Given the description of an element on the screen output the (x, y) to click on. 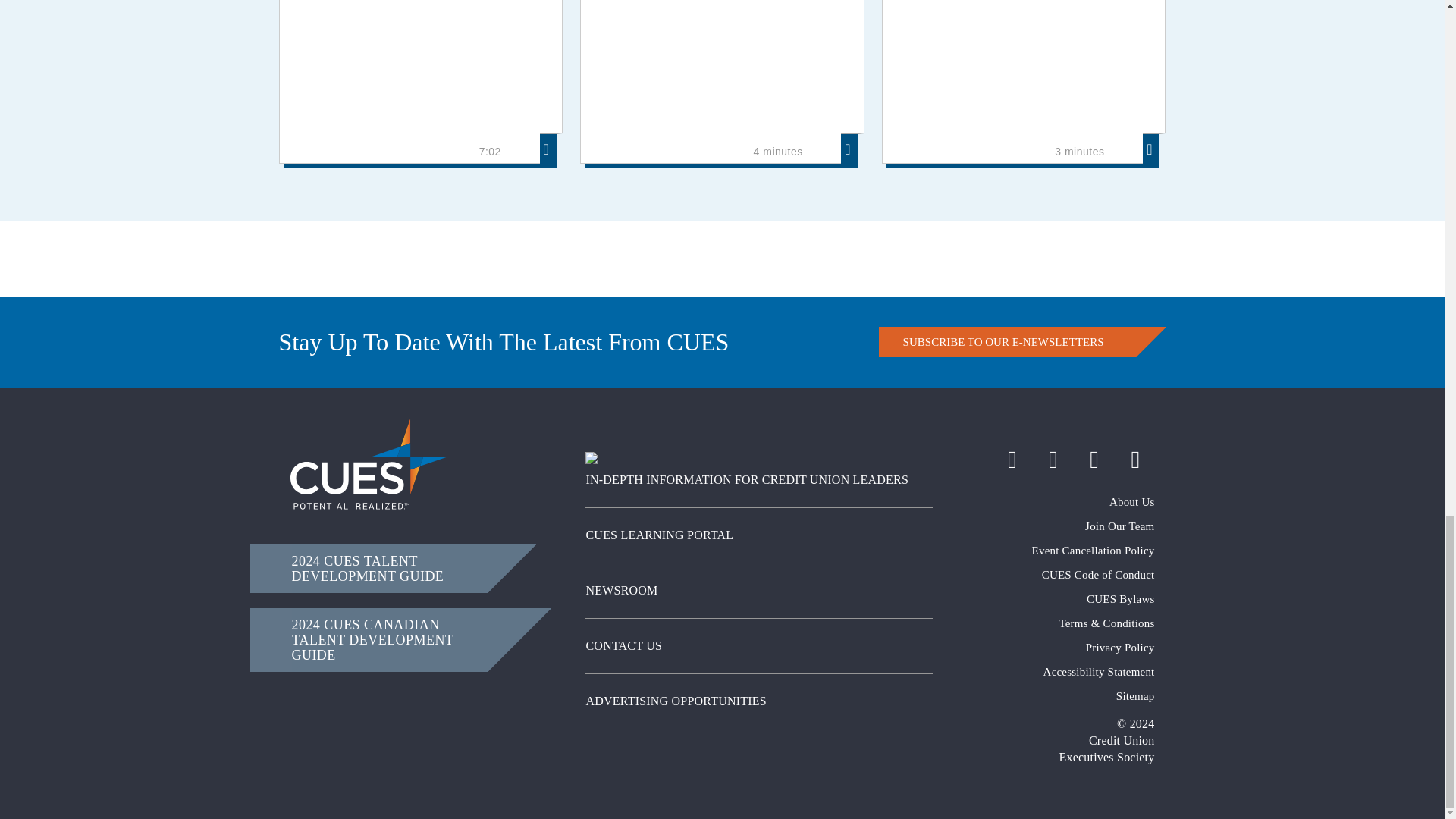
CUES Careers (1054, 526)
